Given the description of an element on the screen output the (x, y) to click on. 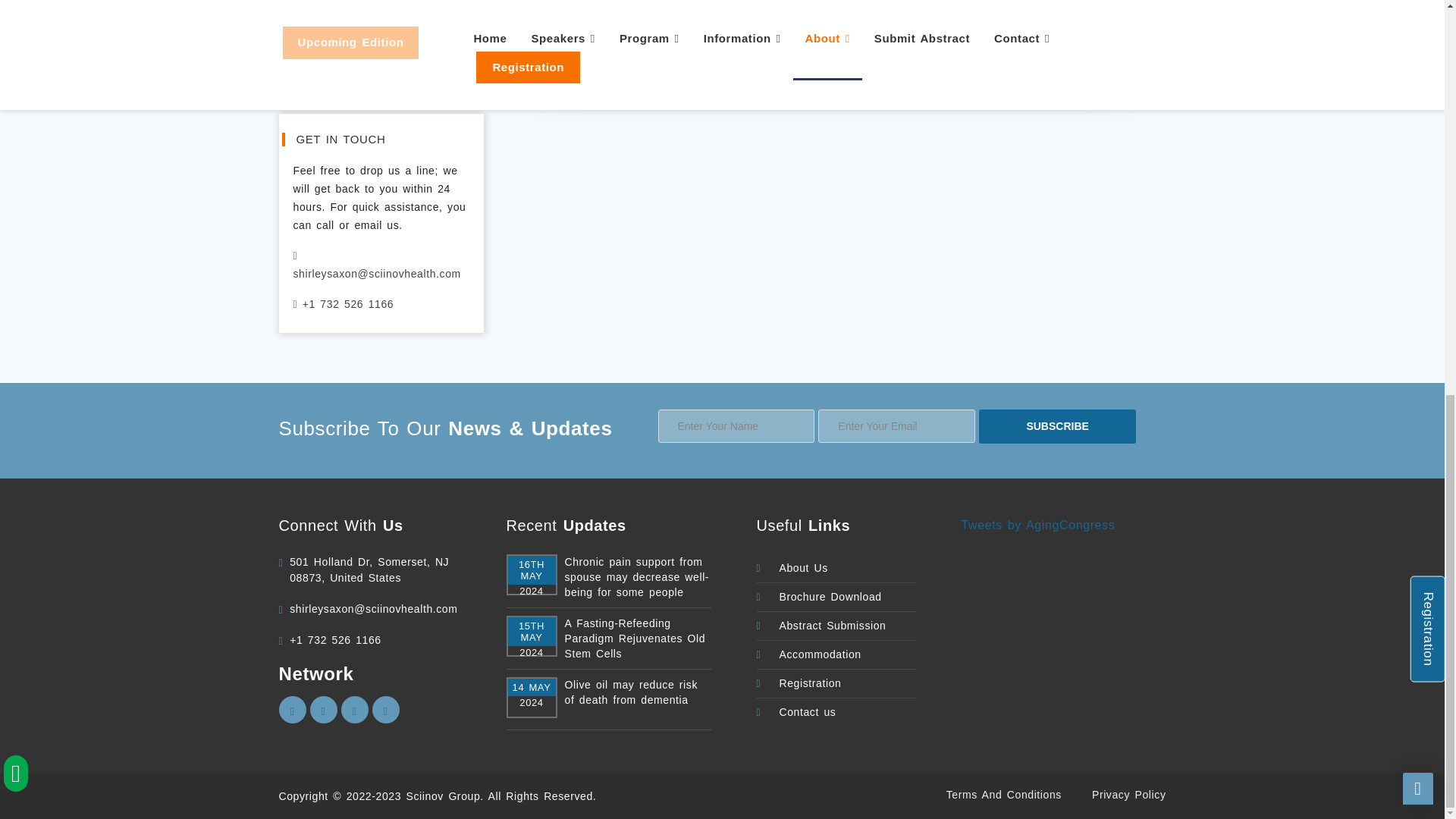
International Precision Medicine Conference (637, 692)
International Precision Medicine Conference (637, 576)
International Precision Medicine Conference (637, 637)
